Given the description of an element on the screen output the (x, y) to click on. 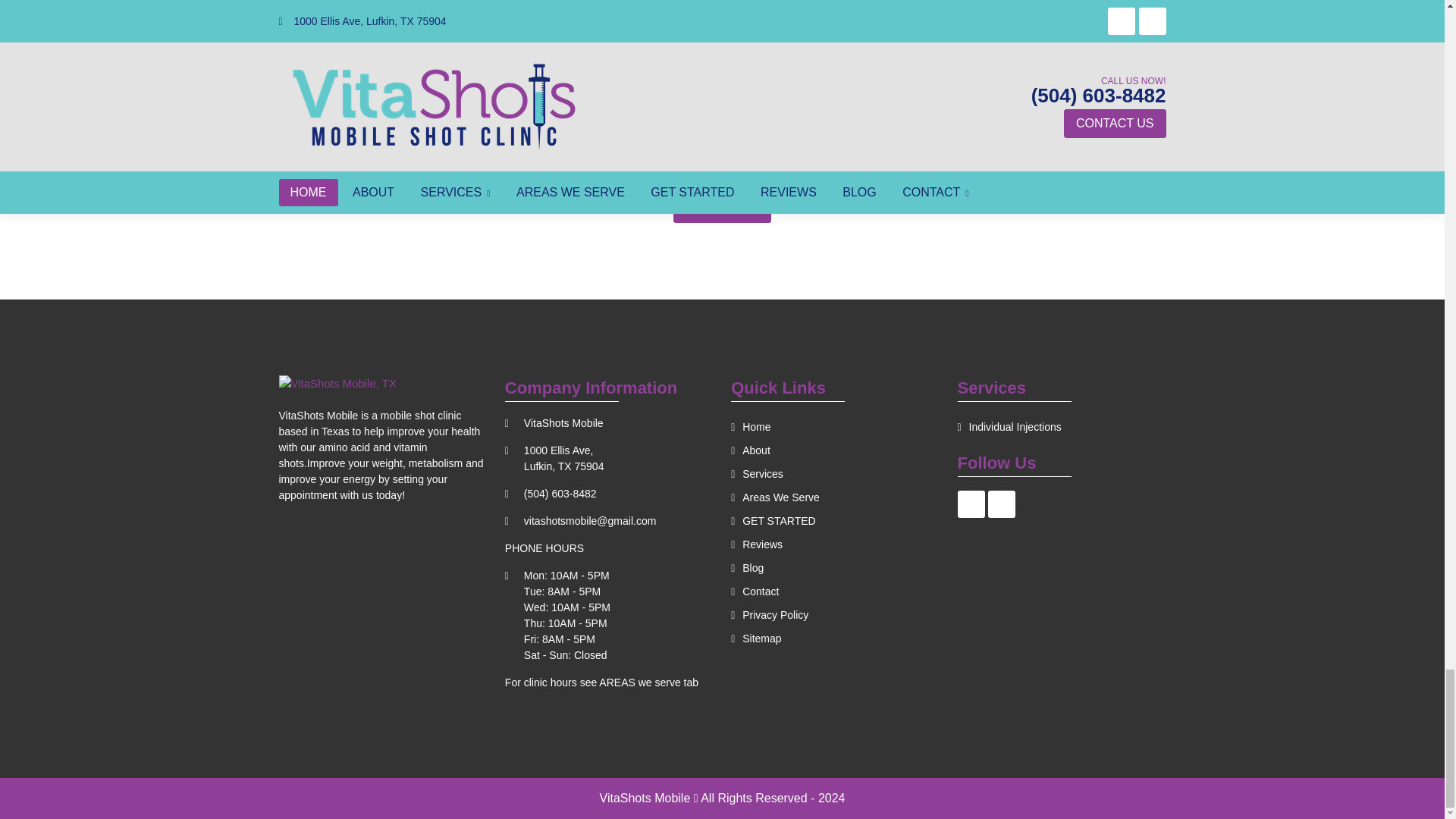
Facebook (971, 503)
Google Business Profile (1001, 503)
VitaShots Mobile (338, 384)
